Given the description of an element on the screen output the (x, y) to click on. 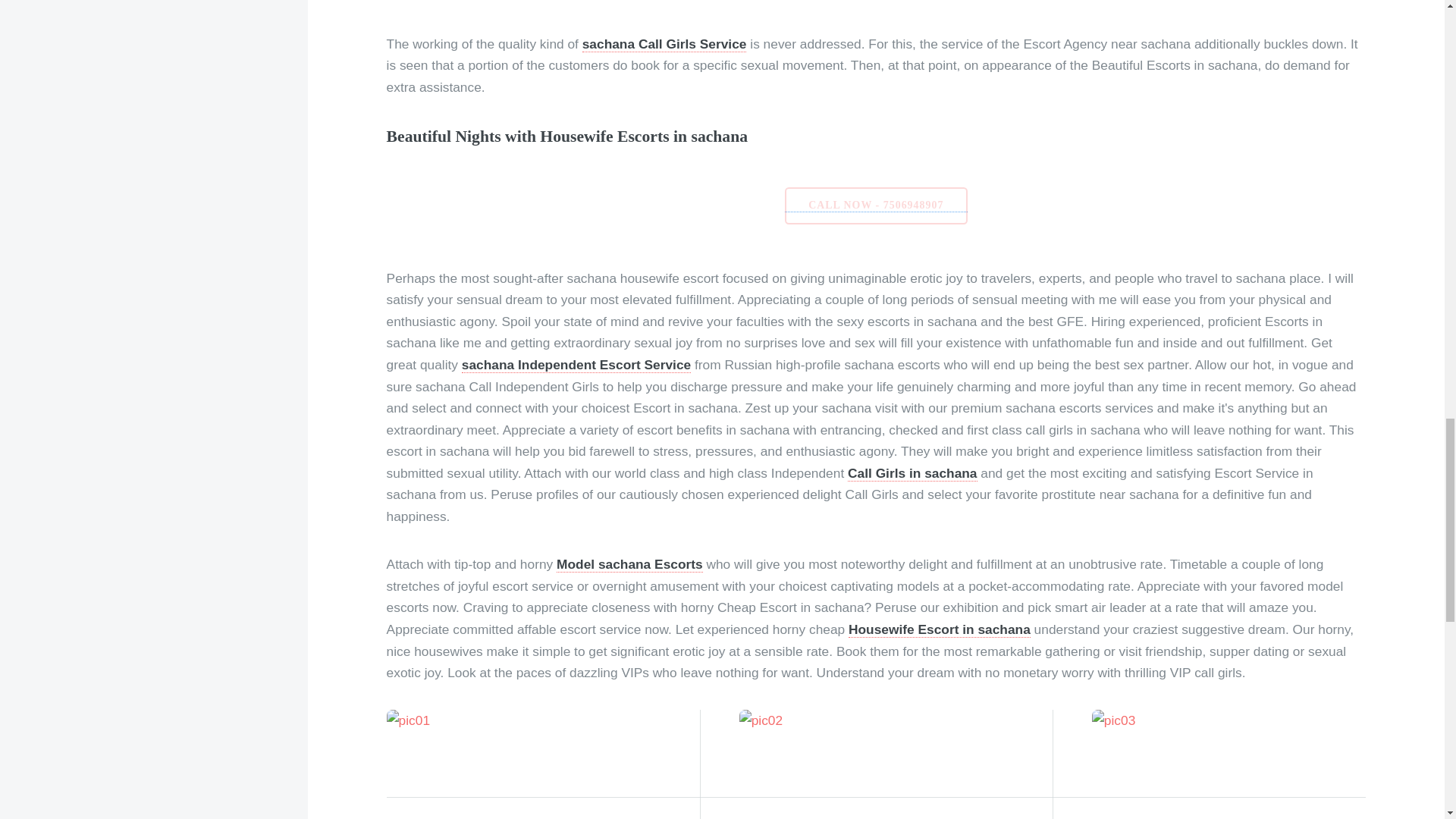
CALL NOW - 7506948907 (876, 204)
Call Girls in sachana (911, 473)
Model sachana Escorts (629, 564)
CALL NOW - 7506948907 (876, 205)
sachana Independent Escort Service (575, 365)
sachana Call Girls Service (664, 44)
Housewife Escort in sachana (939, 629)
